Given the description of an element on the screen output the (x, y) to click on. 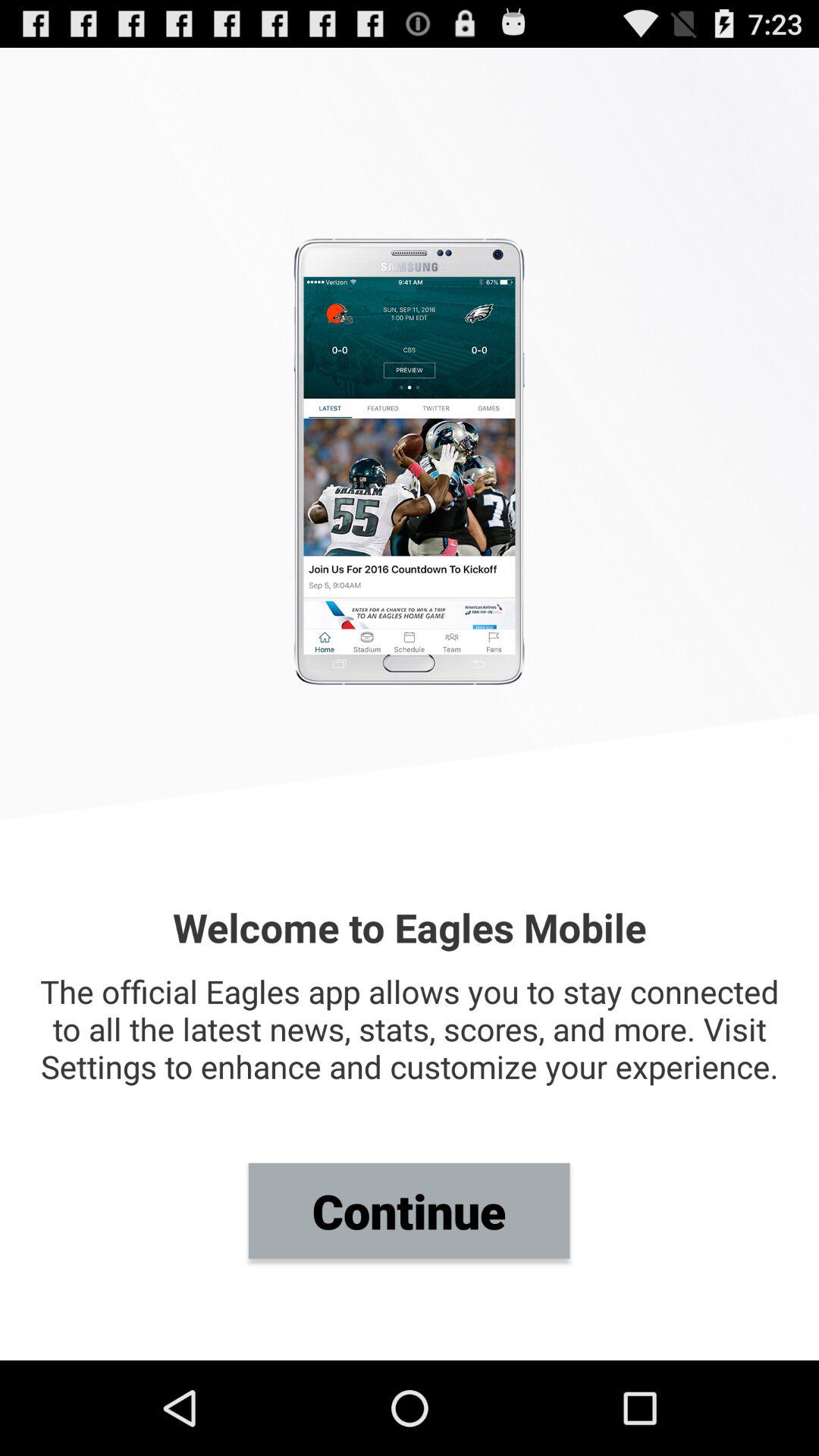
select item below the official eagles item (408, 1210)
